Given the description of an element on the screen output the (x, y) to click on. 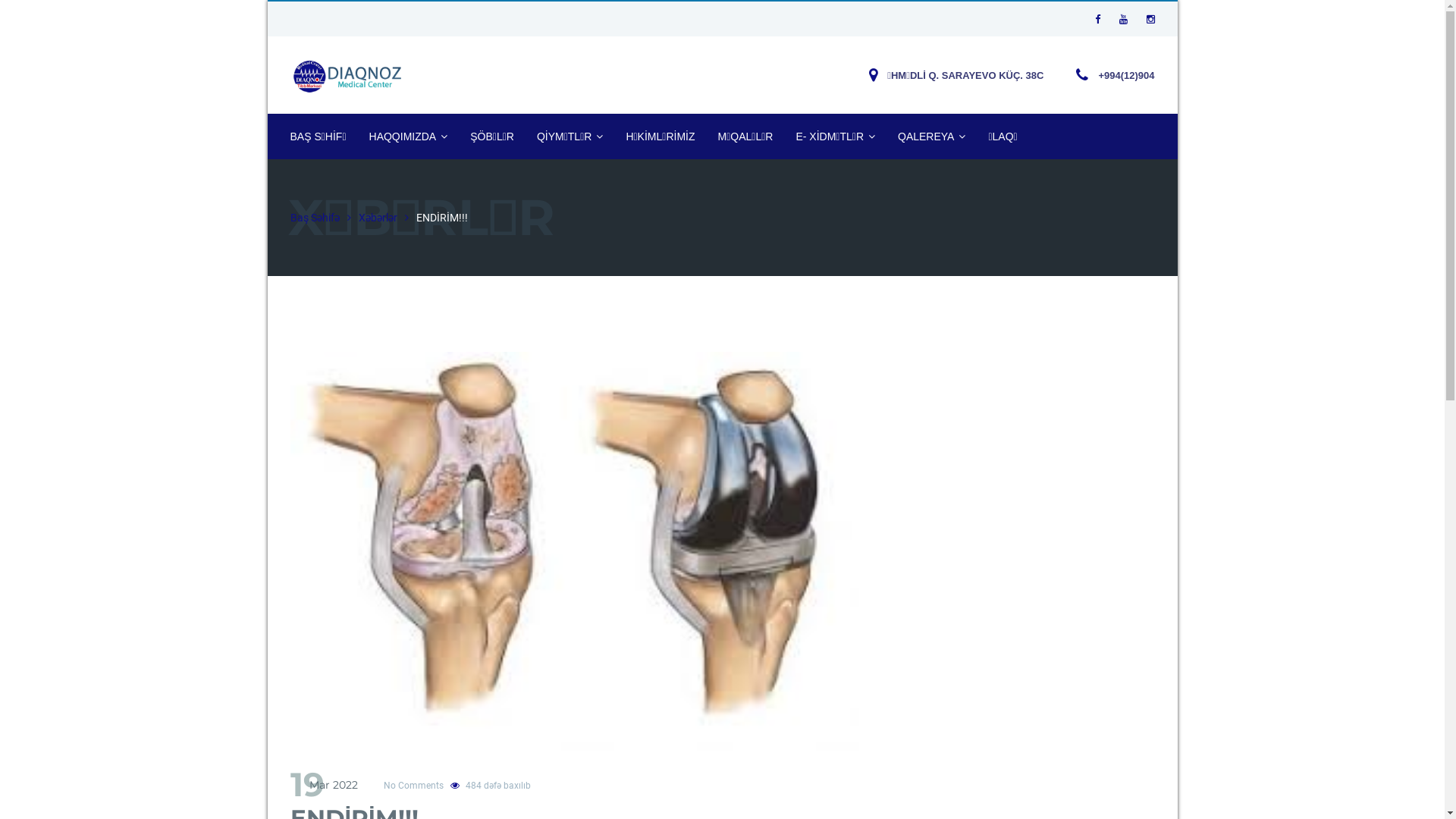
HAQQIMIZDA Element type: text (408, 136)
QALEREYA Element type: text (931, 136)
No Comments Element type: text (413, 785)
